Given the description of an element on the screen output the (x, y) to click on. 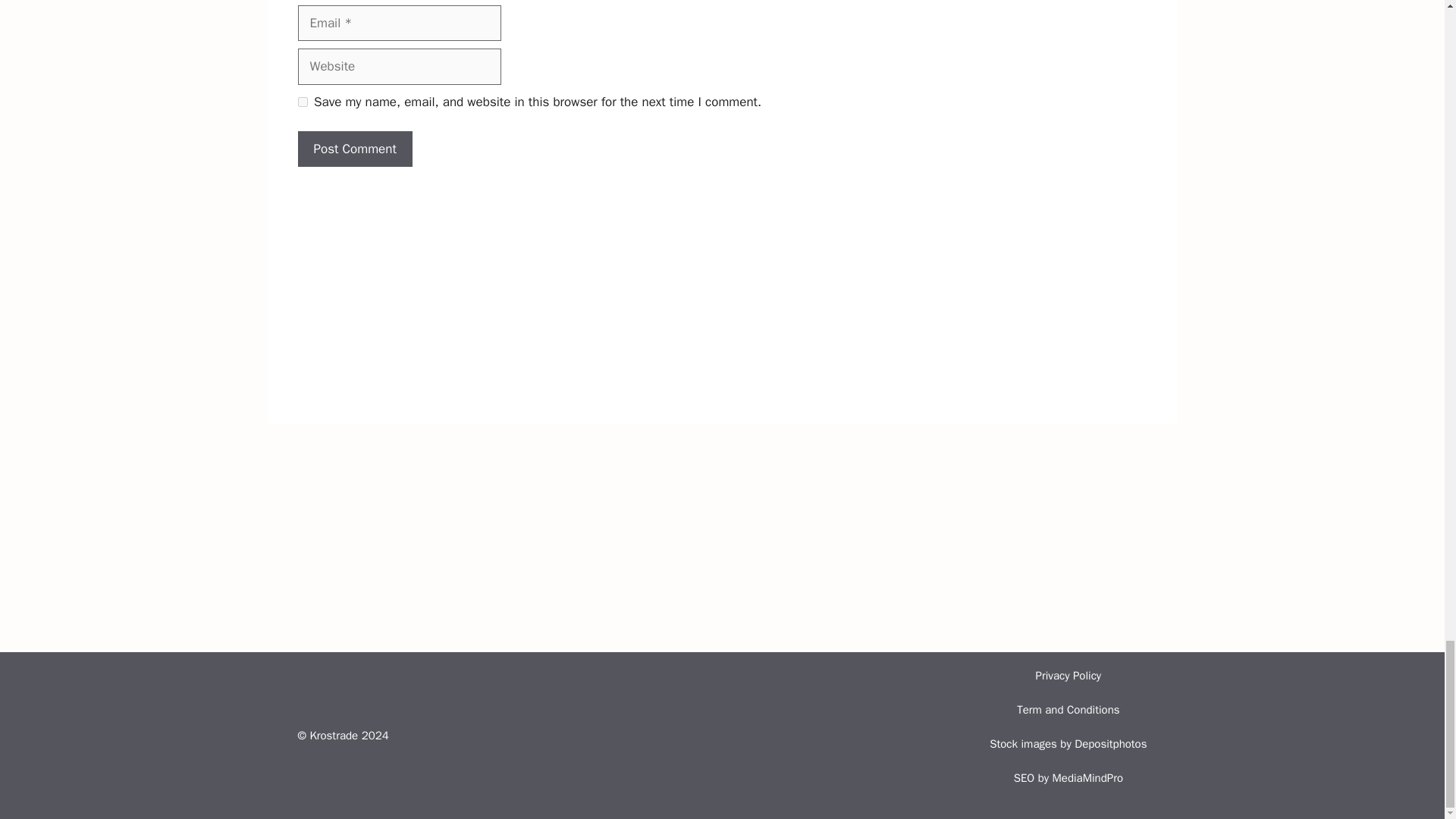
yes (302, 102)
Post Comment (354, 149)
